Given the description of an element on the screen output the (x, y) to click on. 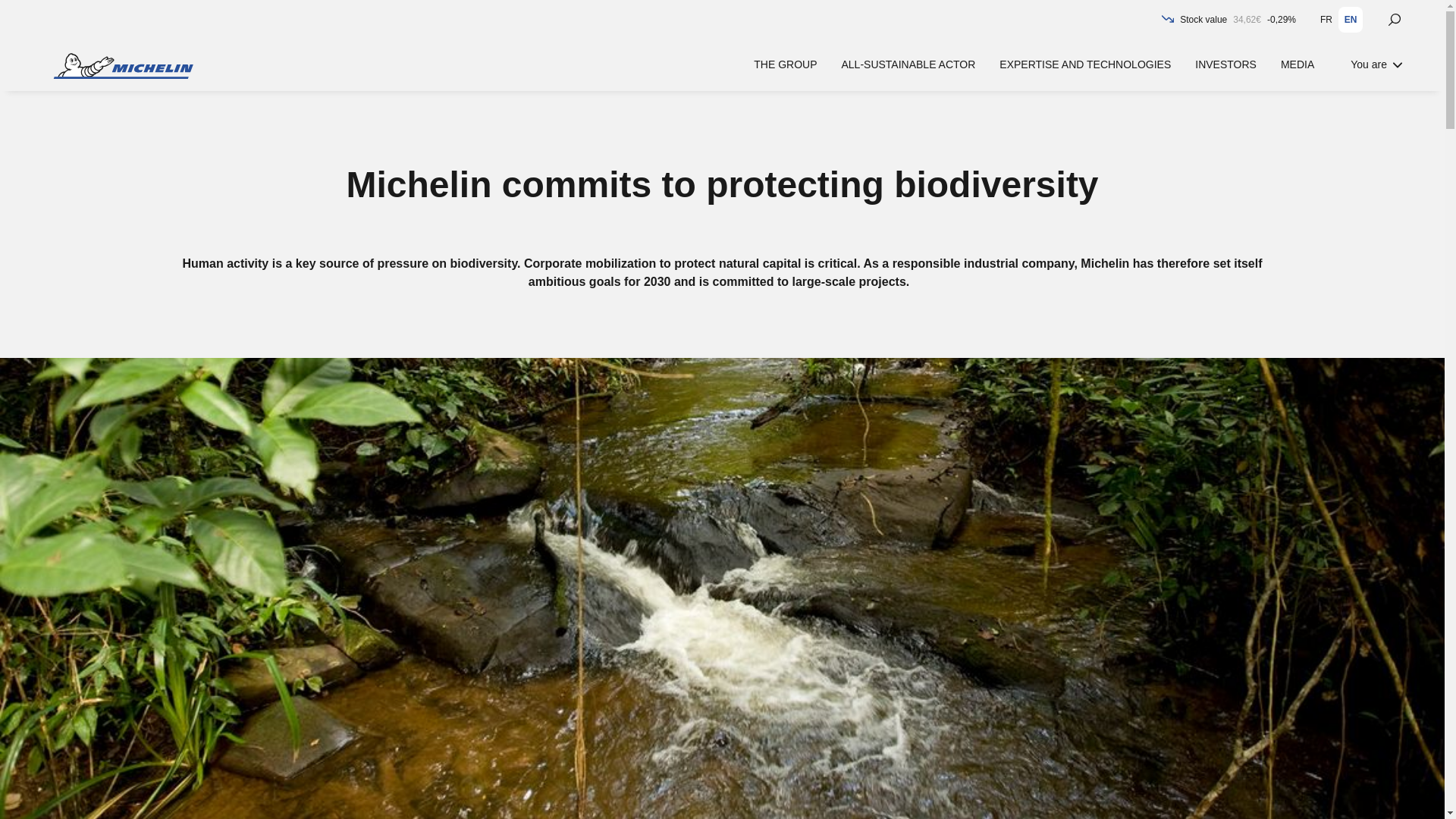
THE GROUP (785, 64)
ALL-SUSTAINABLE ACTOR (907, 64)
FR (1326, 19)
EN (1350, 19)
